Given the description of an element on the screen output the (x, y) to click on. 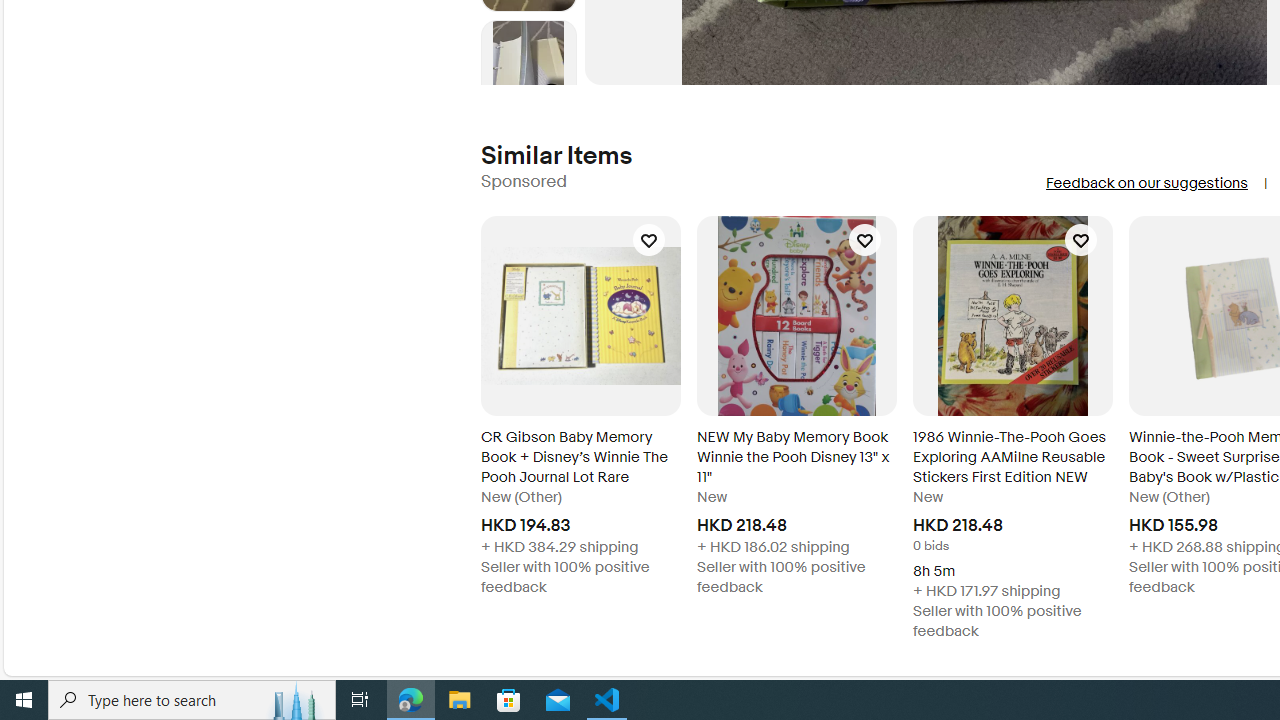
Next image - Item images thumbnails (528, 80)
Picture 6 of 22 (528, 67)
Picture 6 of 22 (528, 67)
Feedback on our suggestions (1146, 183)
